Given the description of an element on the screen output the (x, y) to click on. 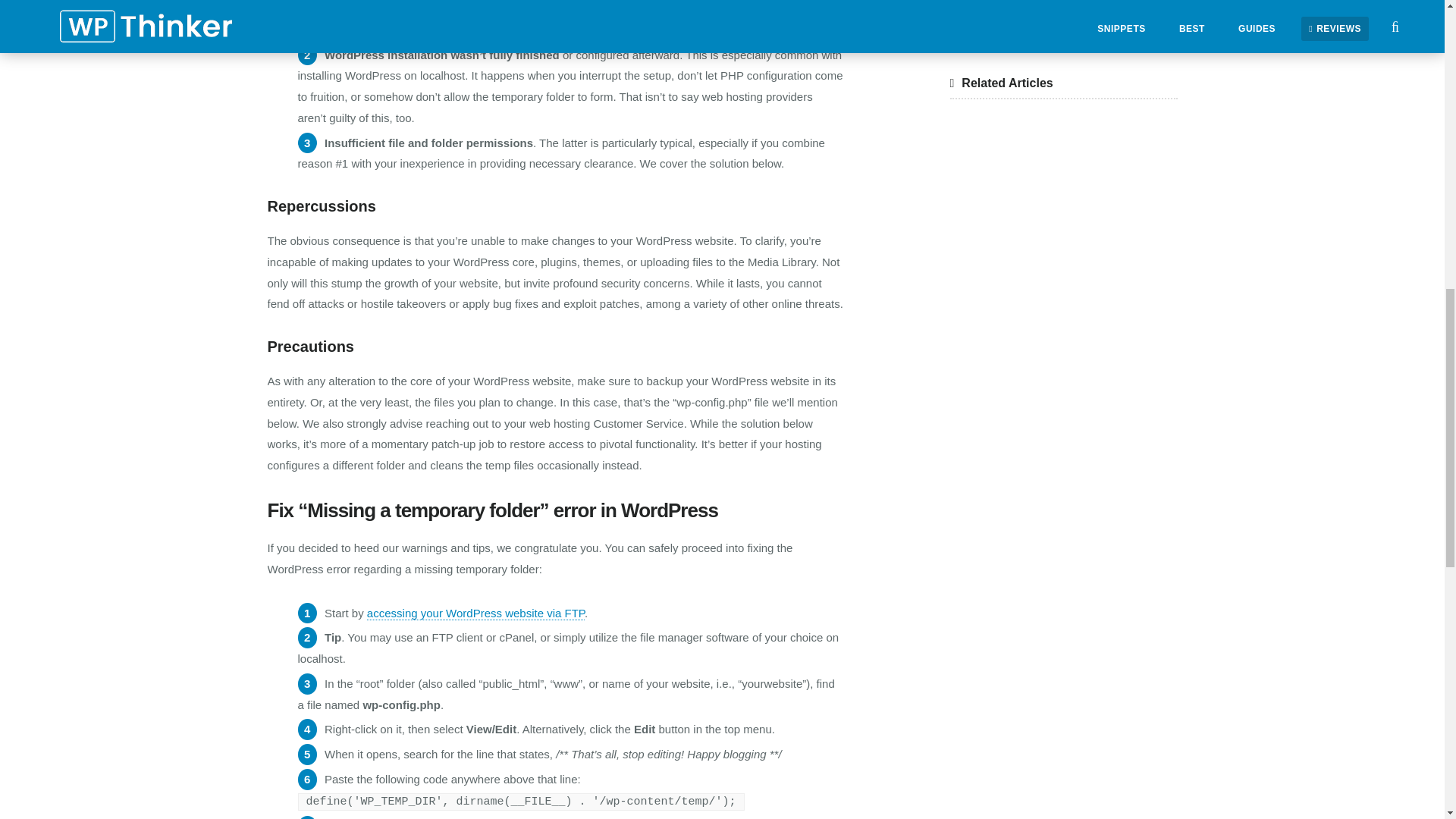
accessing your WordPress website via FTP (475, 612)
